Given the description of an element on the screen output the (x, y) to click on. 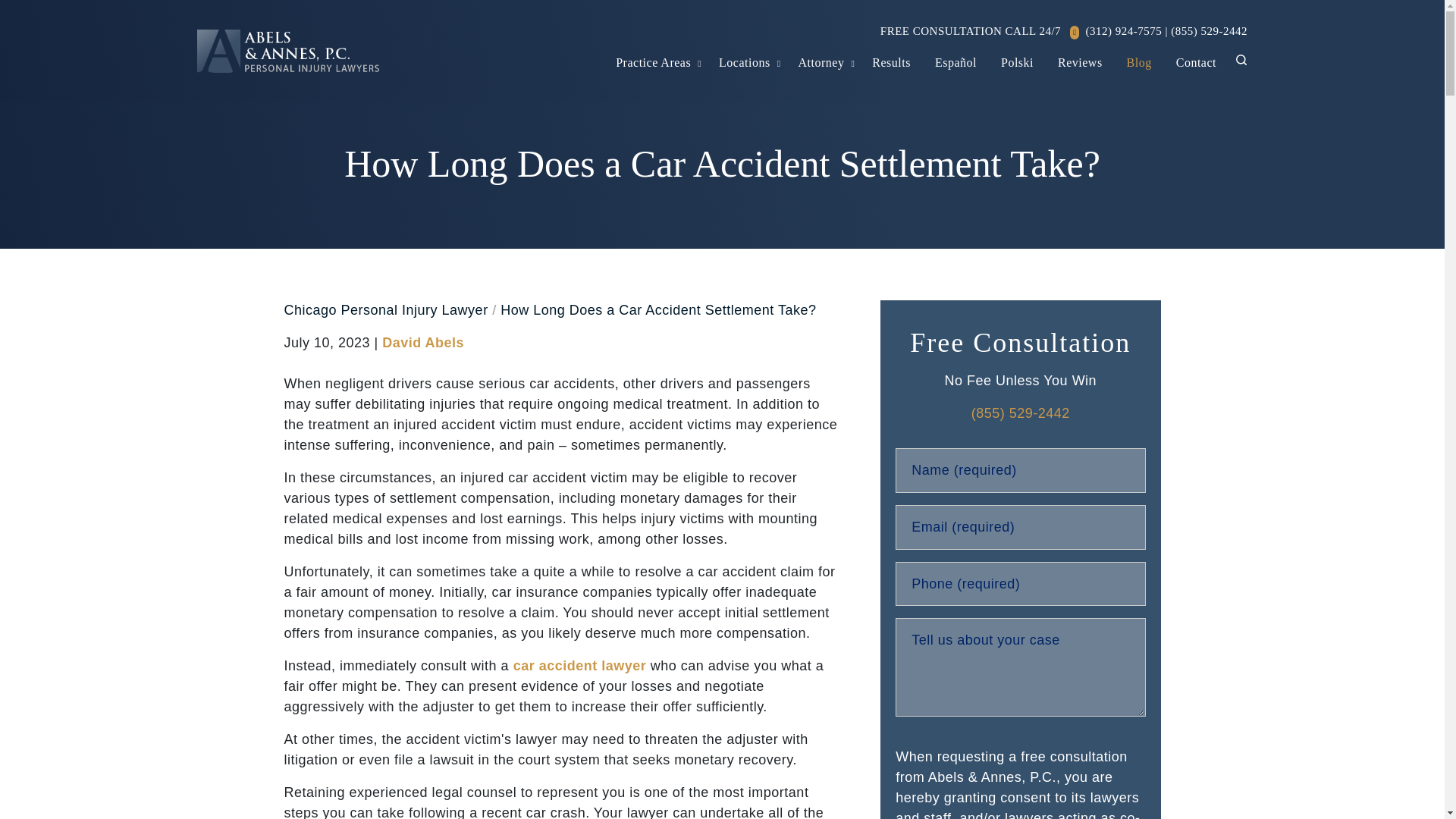
Locations (744, 61)
Practice Areas (653, 61)
David Abels (422, 342)
Chicago Personal Injury Lawyer (385, 309)
Blog (1139, 61)
Polski (1016, 61)
car accident lawyer (579, 665)
Contact (1195, 61)
Results (891, 61)
Locations (744, 61)
